Given the description of an element on the screen output the (x, y) to click on. 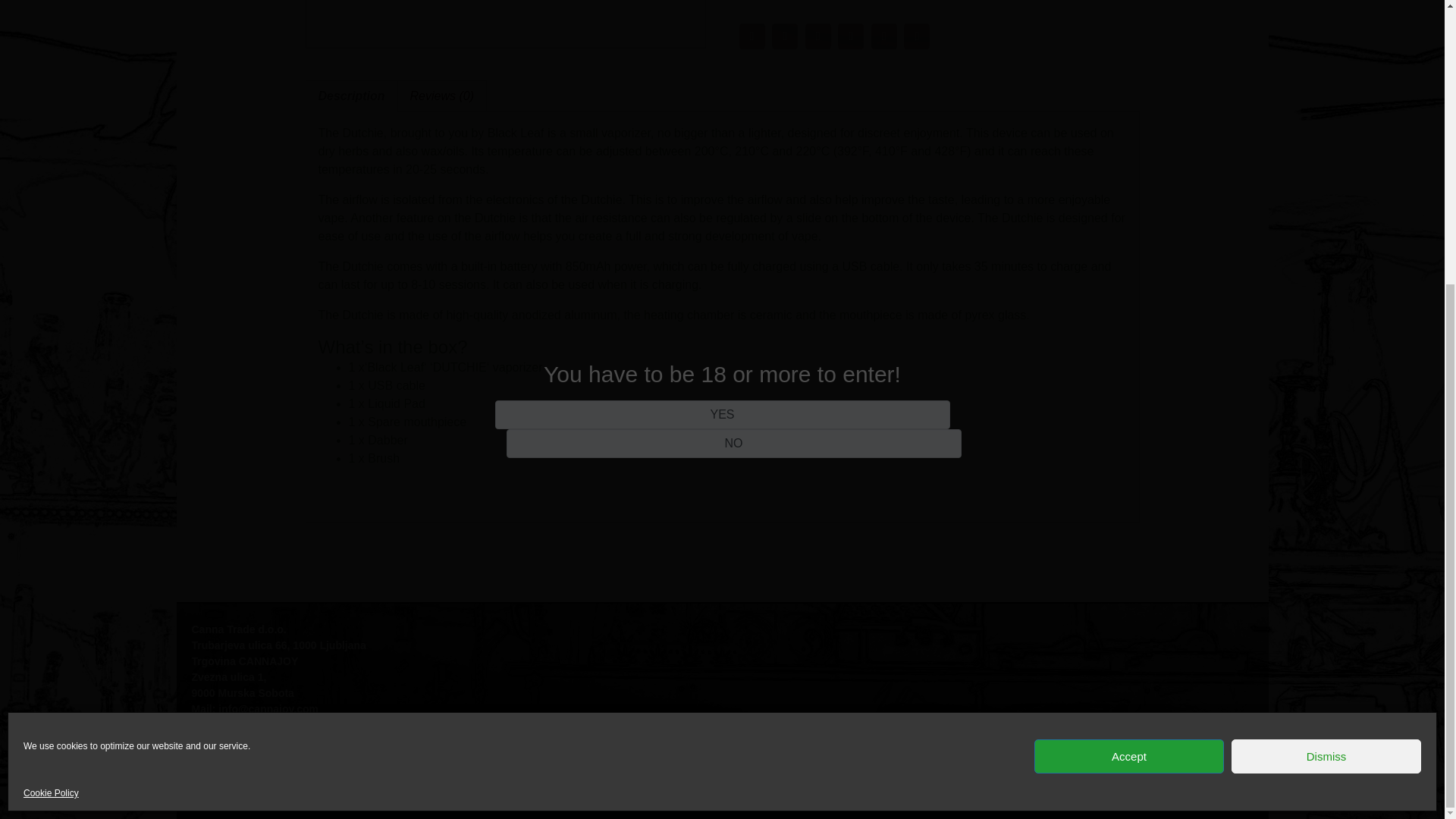
vaporizer-black-leaf-dutchie-schwarzOsHbeZOih7trq (504, 23)
Accept (1128, 328)
Cookie Policy (50, 366)
NO (733, 15)
Dismiss (1326, 328)
Description (351, 96)
NO (733, 15)
